Given the description of an element on the screen output the (x, y) to click on. 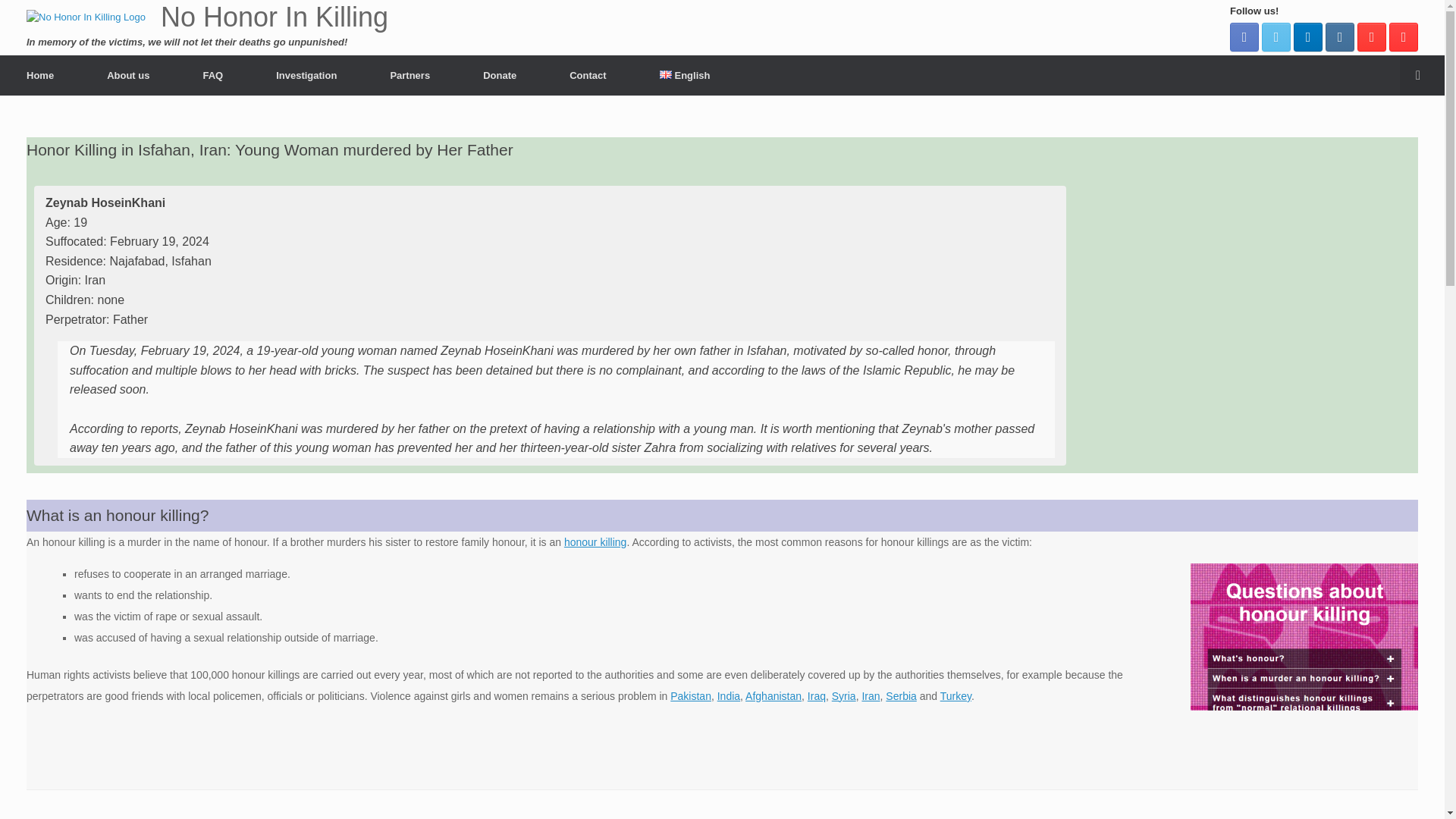
No Honor In Killing Instagram (1339, 36)
Investigation (305, 74)
About us (128, 74)
No Honor In Killing (207, 17)
Partners (409, 74)
No Honor In Killing LinkedIn (1308, 36)
No Honor In Killing Pinterest (1371, 36)
No Honor In Killing (207, 17)
No Honor In Killing YouTube (1403, 36)
FAQ (212, 74)
